Given the description of an element on the screen output the (x, y) to click on. 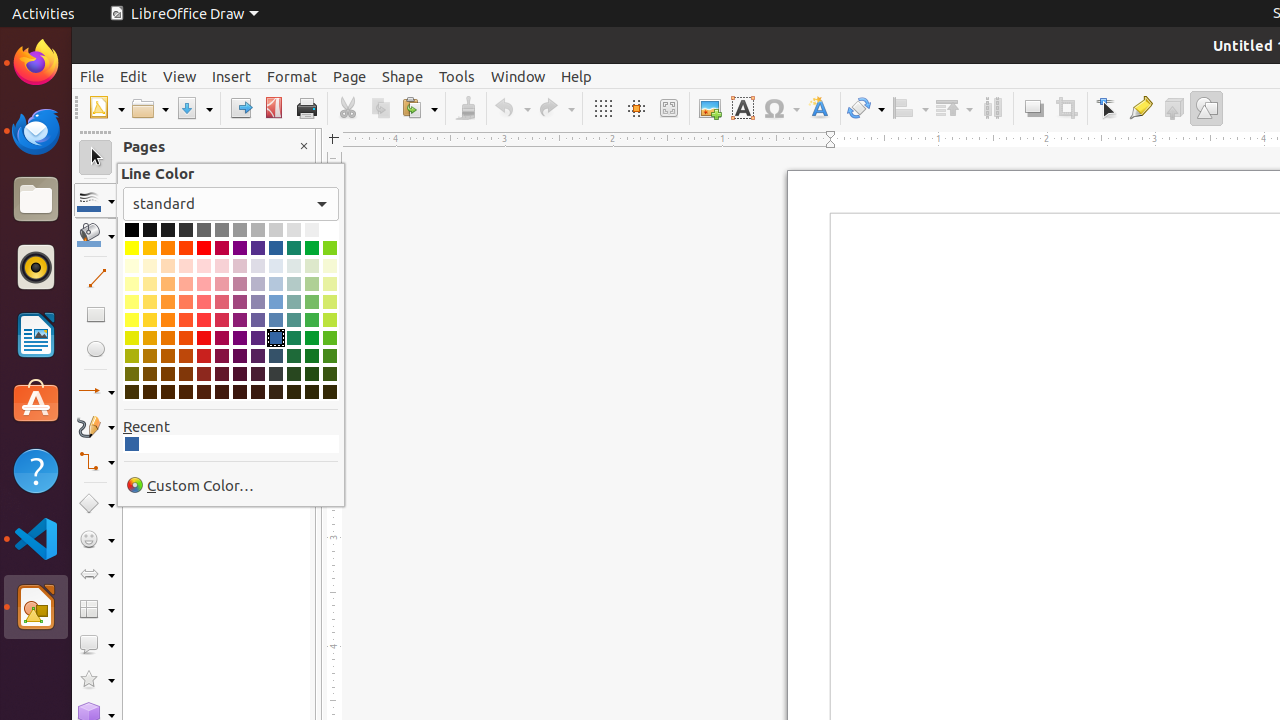
Dark Purple 3 Element type: list-item (240, 374)
Gray Element type: list-item (222, 230)
Align Element type: push-button (910, 108)
Dark Brick 1 Element type: list-item (186, 338)
